Given the description of an element on the screen output the (x, y) to click on. 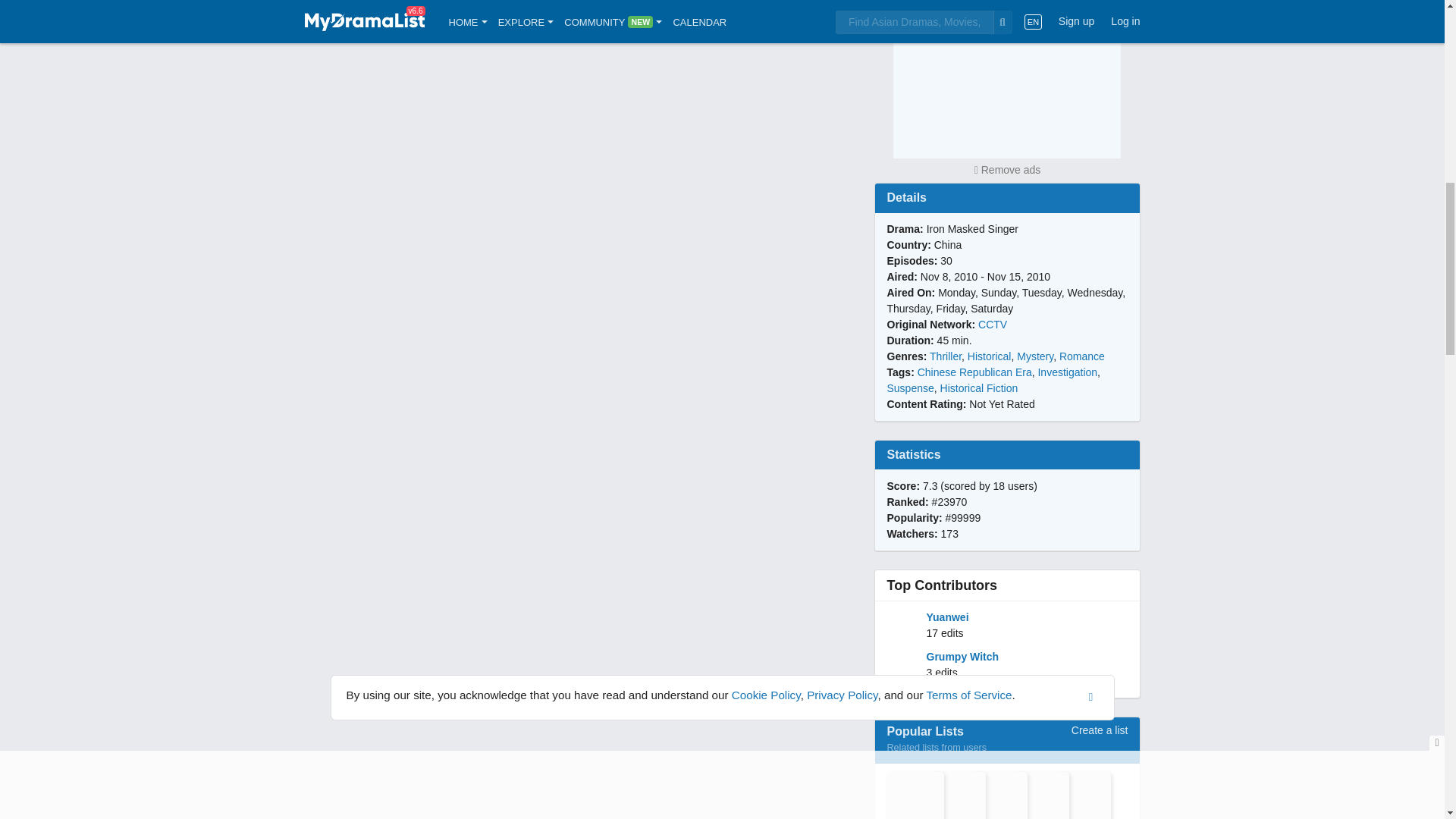
Historical C-Drama Chronology sorted by Historical Periods (991, 795)
